Given the description of an element on the screen output the (x, y) to click on. 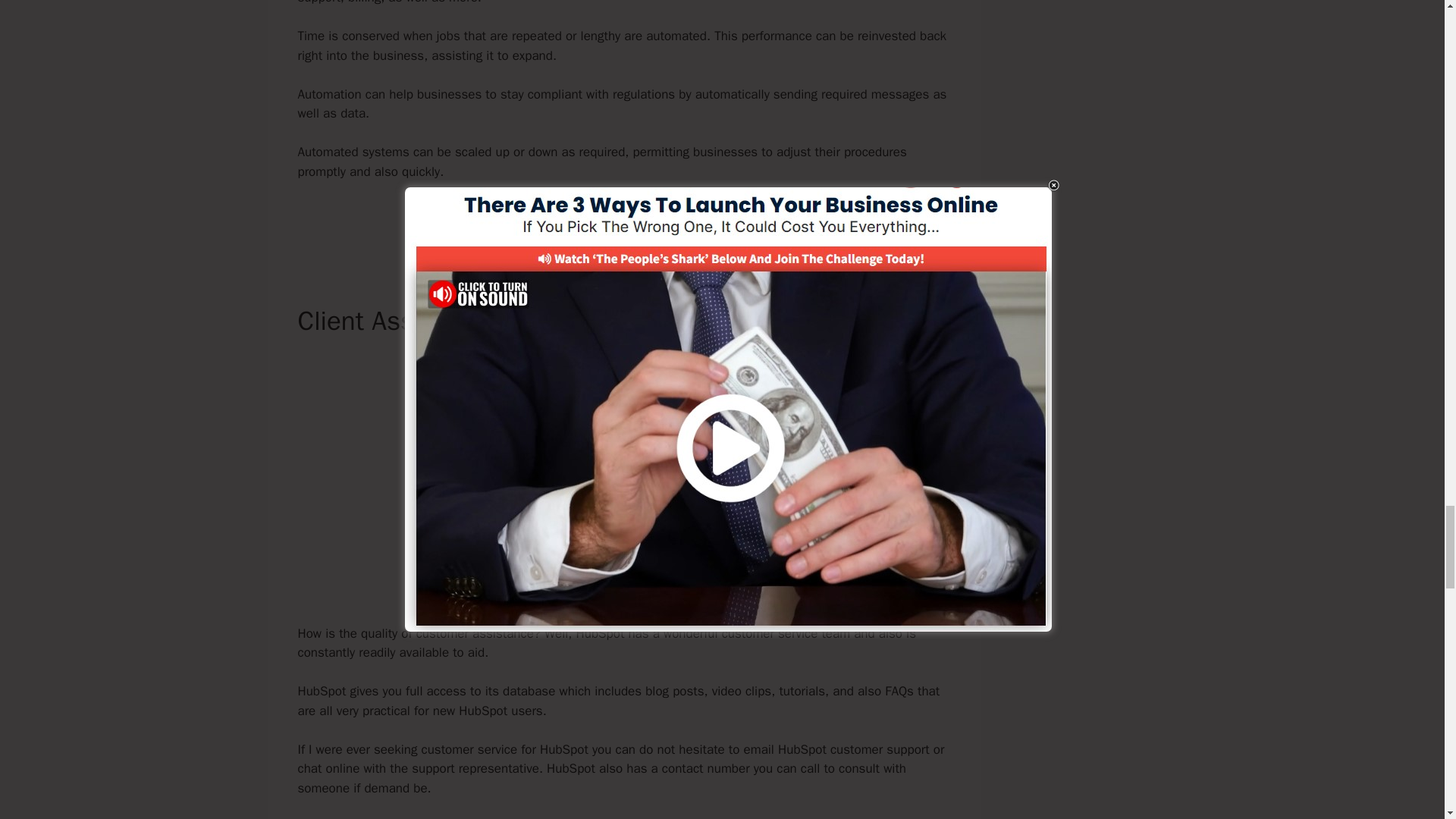
Learn If HubSpot Is For You (623, 223)
